Given the description of an element on the screen output the (x, y) to click on. 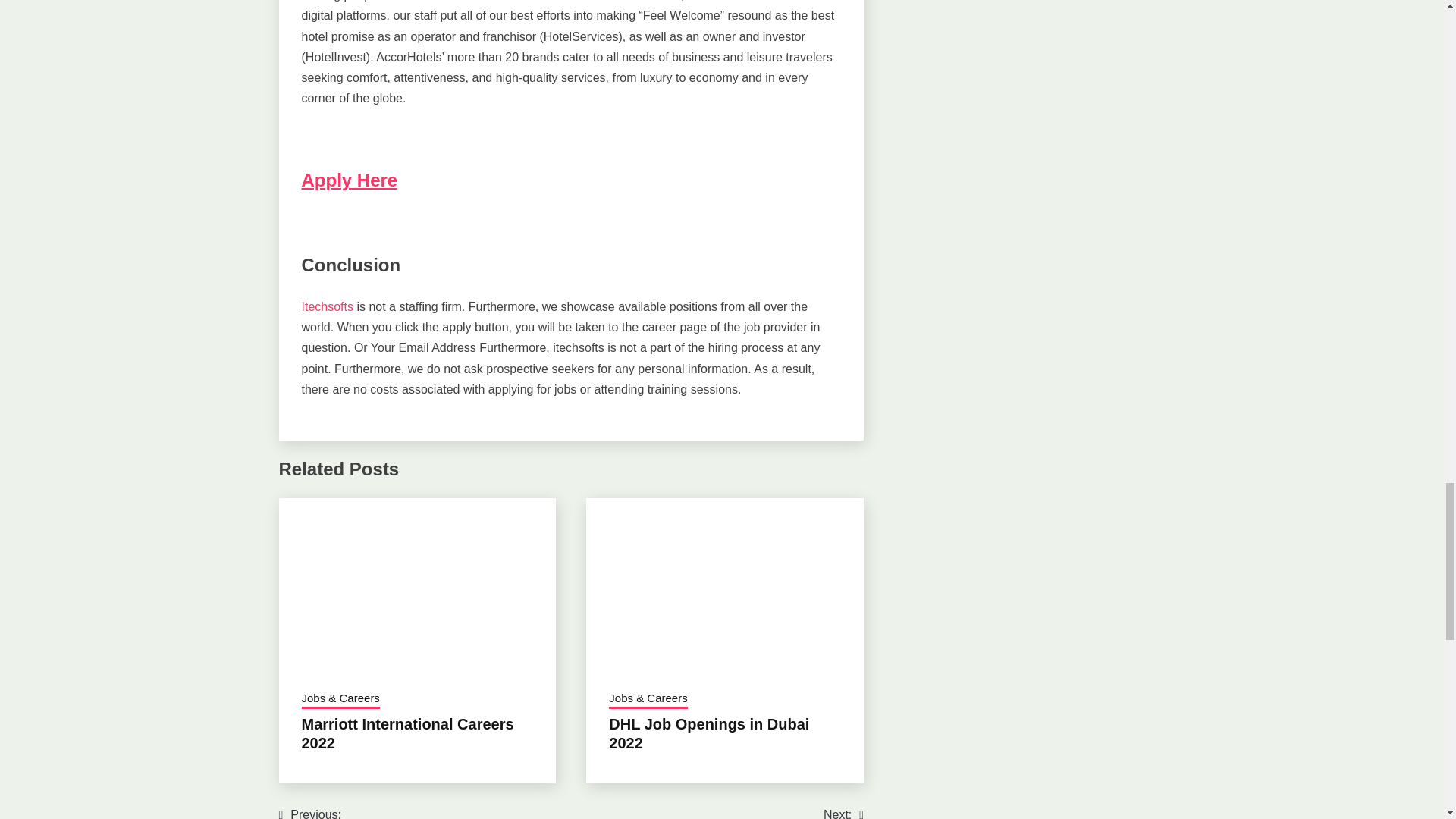
DHL Job Openings in Dubai 2022 (708, 733)
Itechsofts (327, 306)
Marriott International Careers 2022 (407, 733)
Apply Here (349, 179)
